Given the description of an element on the screen output the (x, y) to click on. 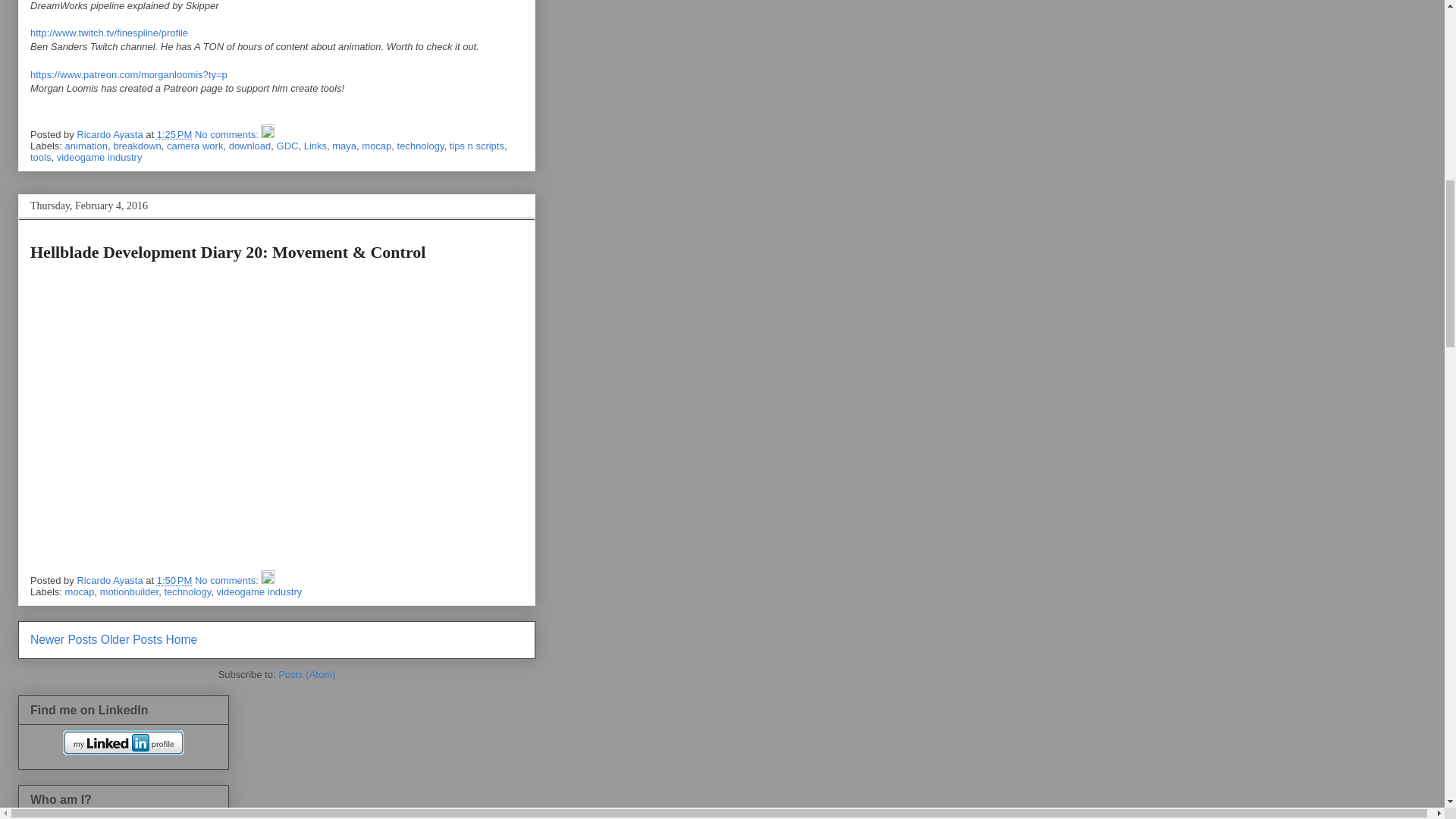
permanent link (174, 580)
No comments: (227, 134)
technology (420, 145)
Links (315, 145)
animation (86, 145)
Older Posts (130, 639)
breakdown (137, 145)
maya (343, 145)
GDC (287, 145)
Edit Post (267, 580)
tips n scripts (476, 145)
Newer Posts (63, 639)
Ricardo Ayasta (111, 134)
permanent link (174, 134)
camera work (194, 145)
